Given the description of an element on the screen output the (x, y) to click on. 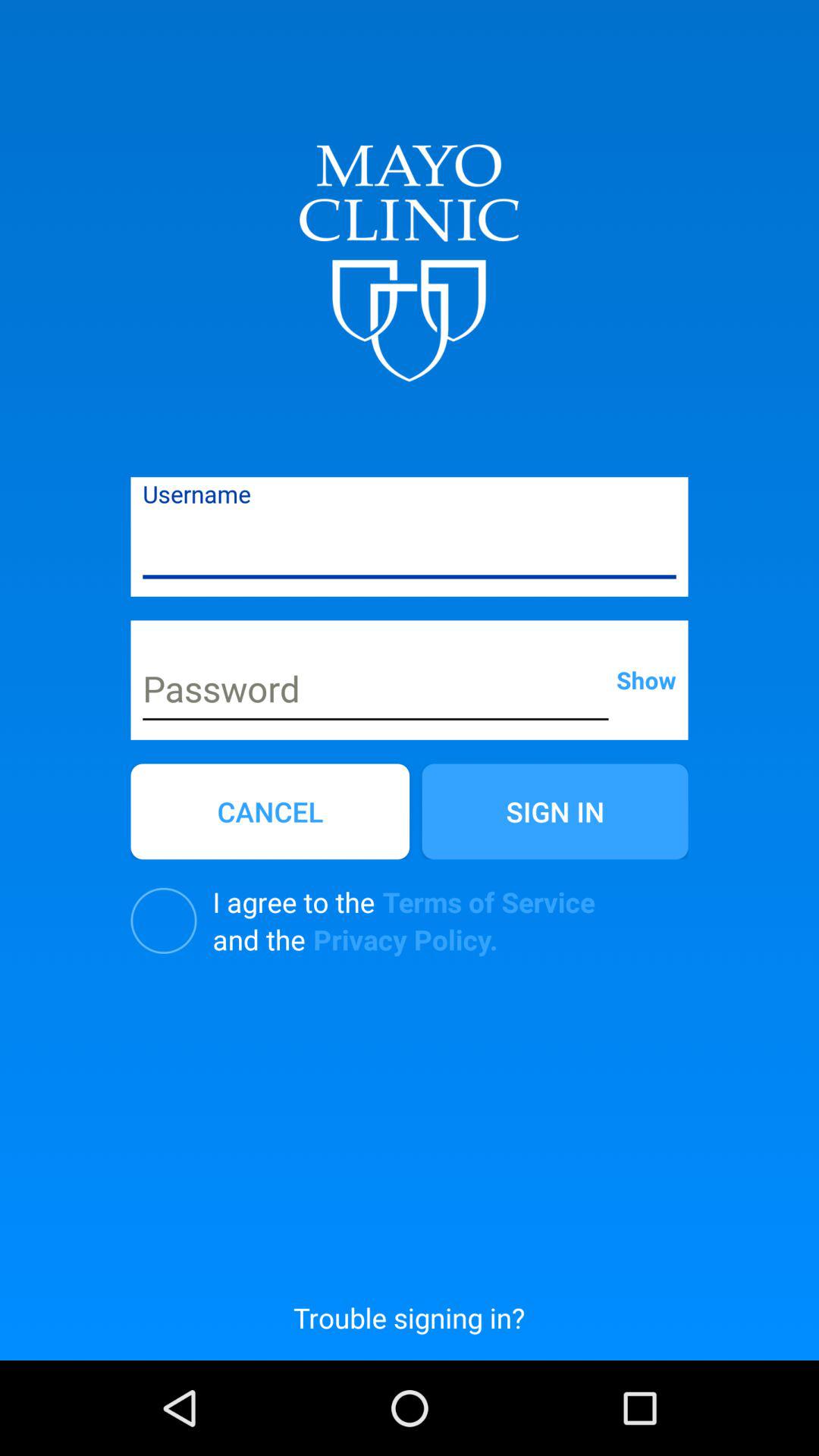
agree button (163, 920)
